Given the description of an element on the screen output the (x, y) to click on. 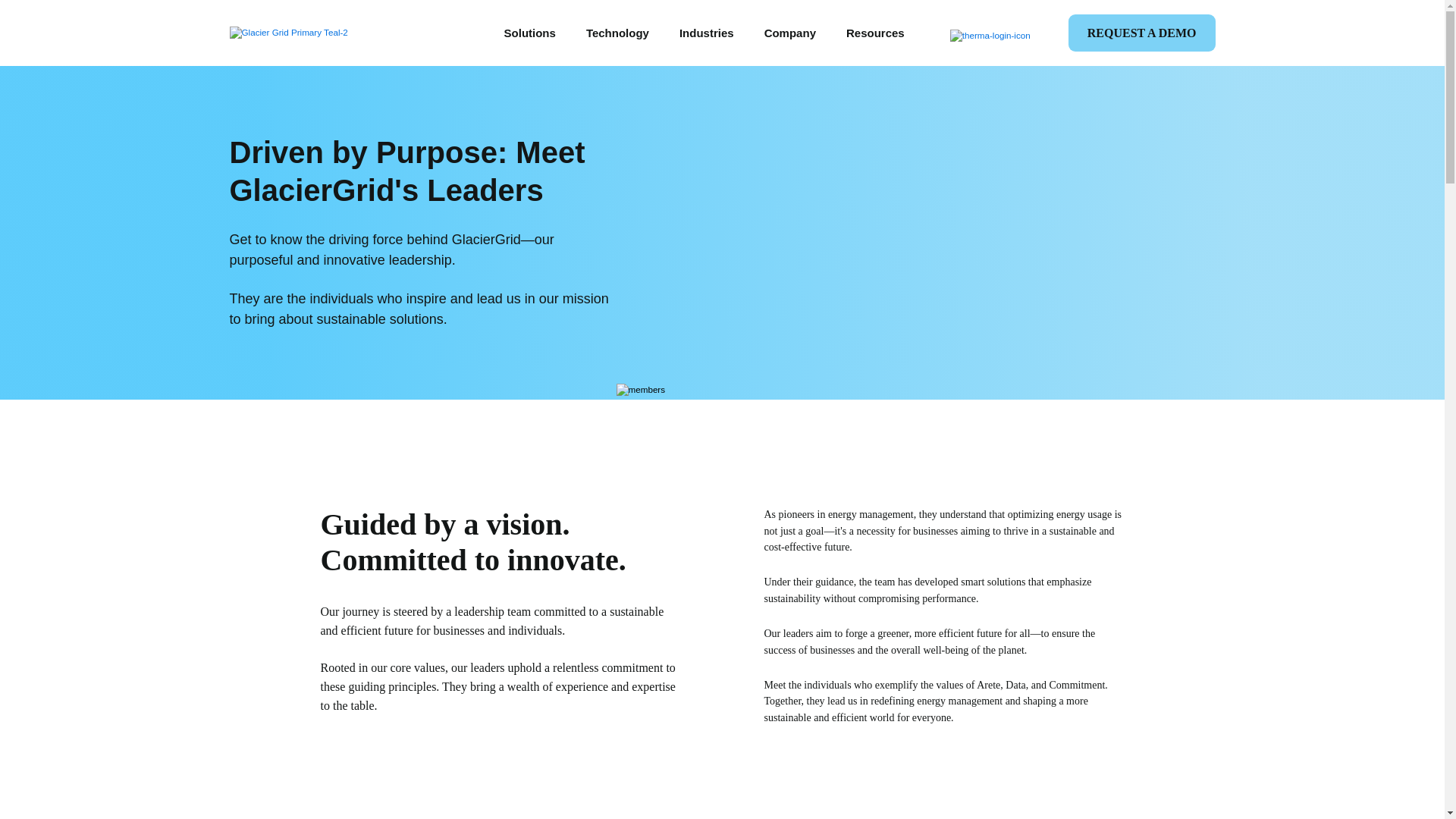
REQUEST A DEMO (1141, 32)
